Given the description of an element on the screen output the (x, y) to click on. 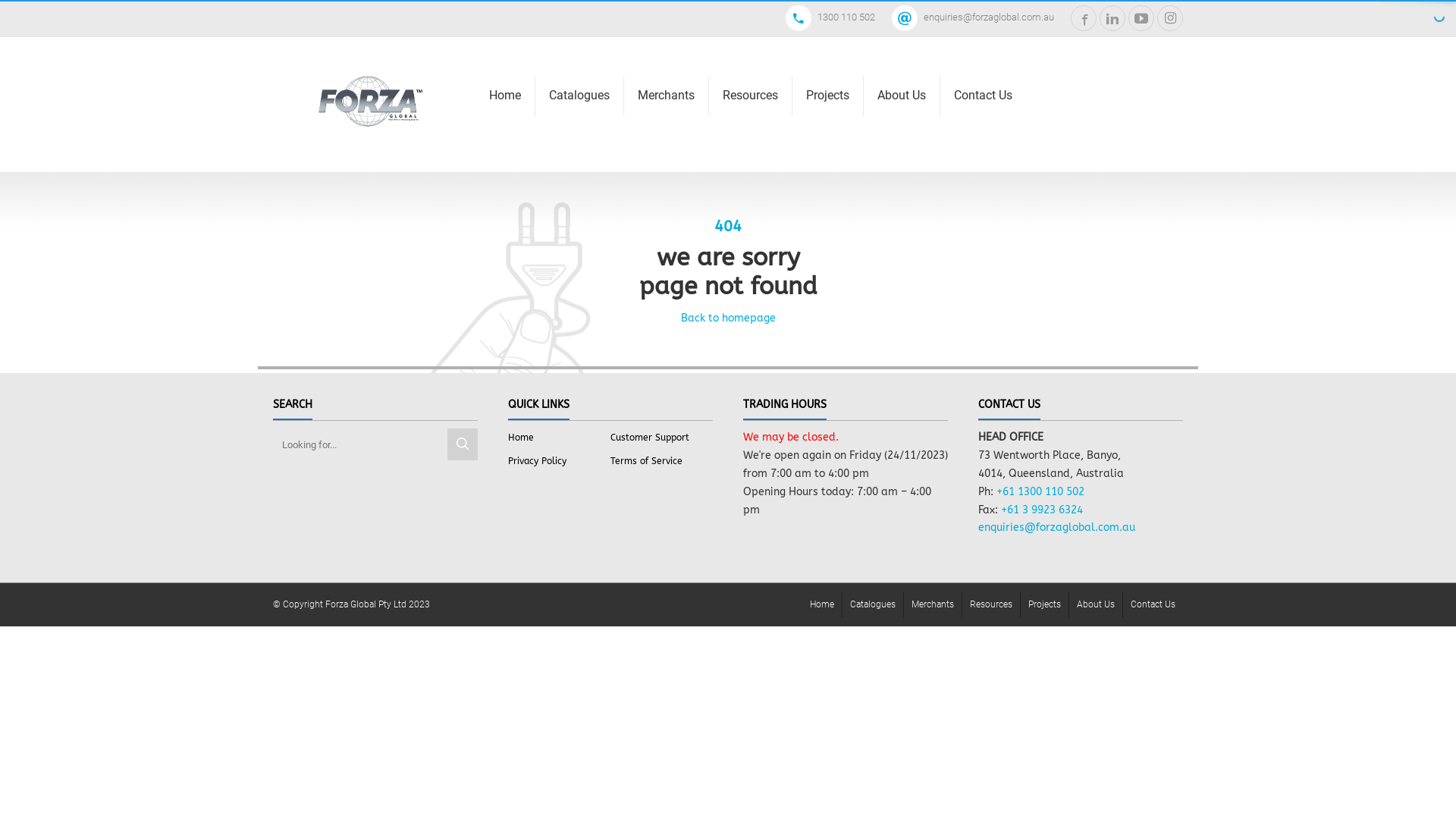
Catalogues Element type: text (579, 95)
Resources Element type: text (750, 95)
Terms of Service Element type: text (646, 460)
Contact Us Element type: text (983, 95)
enquiries@forzaglobal.com.au Element type: text (979, 17)
Resources Element type: text (990, 604)
Contact Us Element type: text (1153, 604)
Home Element type: text (821, 604)
Projects Element type: text (827, 95)
Back to homepage Element type: text (727, 317)
+61 3 9923 6324 Element type: text (1041, 509)
Home Element type: text (520, 437)
Merchants Element type: text (932, 604)
Merchants Element type: text (666, 95)
1300 110 502 Element type: text (836, 17)
Home Element type: text (504, 95)
+61 1300 110 502 Element type: text (1040, 491)
About Us Element type: text (1095, 604)
Projects Element type: text (1044, 604)
enquiries@forzaglobal.com.au Element type: text (1056, 526)
About Us Element type: text (901, 95)
Catalogues Element type: text (872, 604)
Privacy Policy Element type: text (537, 460)
Customer Support Element type: text (649, 437)
